Given the description of an element on the screen output the (x, y) to click on. 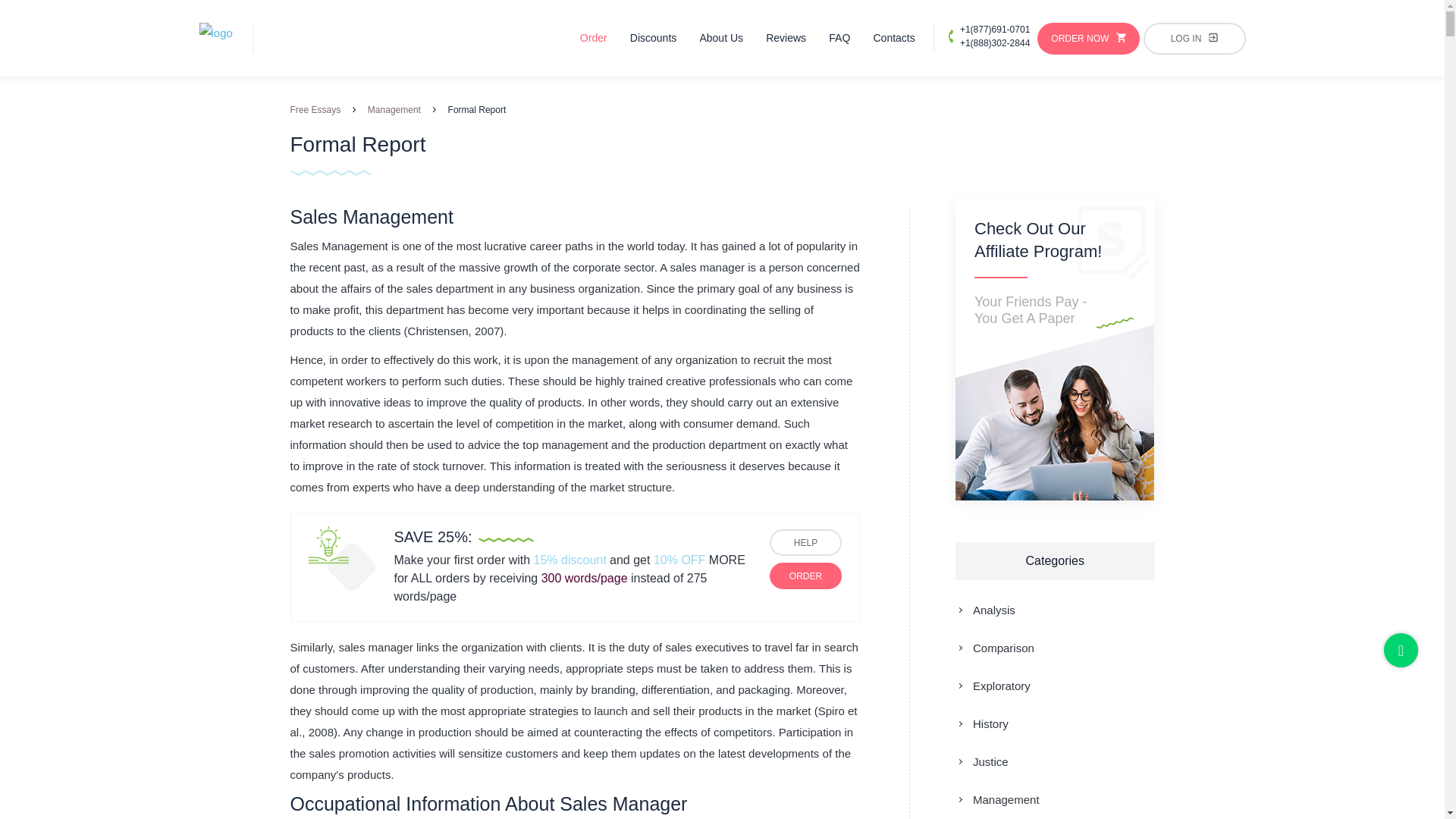
Management (394, 109)
Free Essays (314, 109)
Analysis (984, 610)
Order (593, 37)
Management (997, 799)
Exploratory (992, 685)
ORDER (805, 575)
History (982, 724)
LOG IN (1194, 38)
HELP (805, 542)
